Given the description of an element on the screen output the (x, y) to click on. 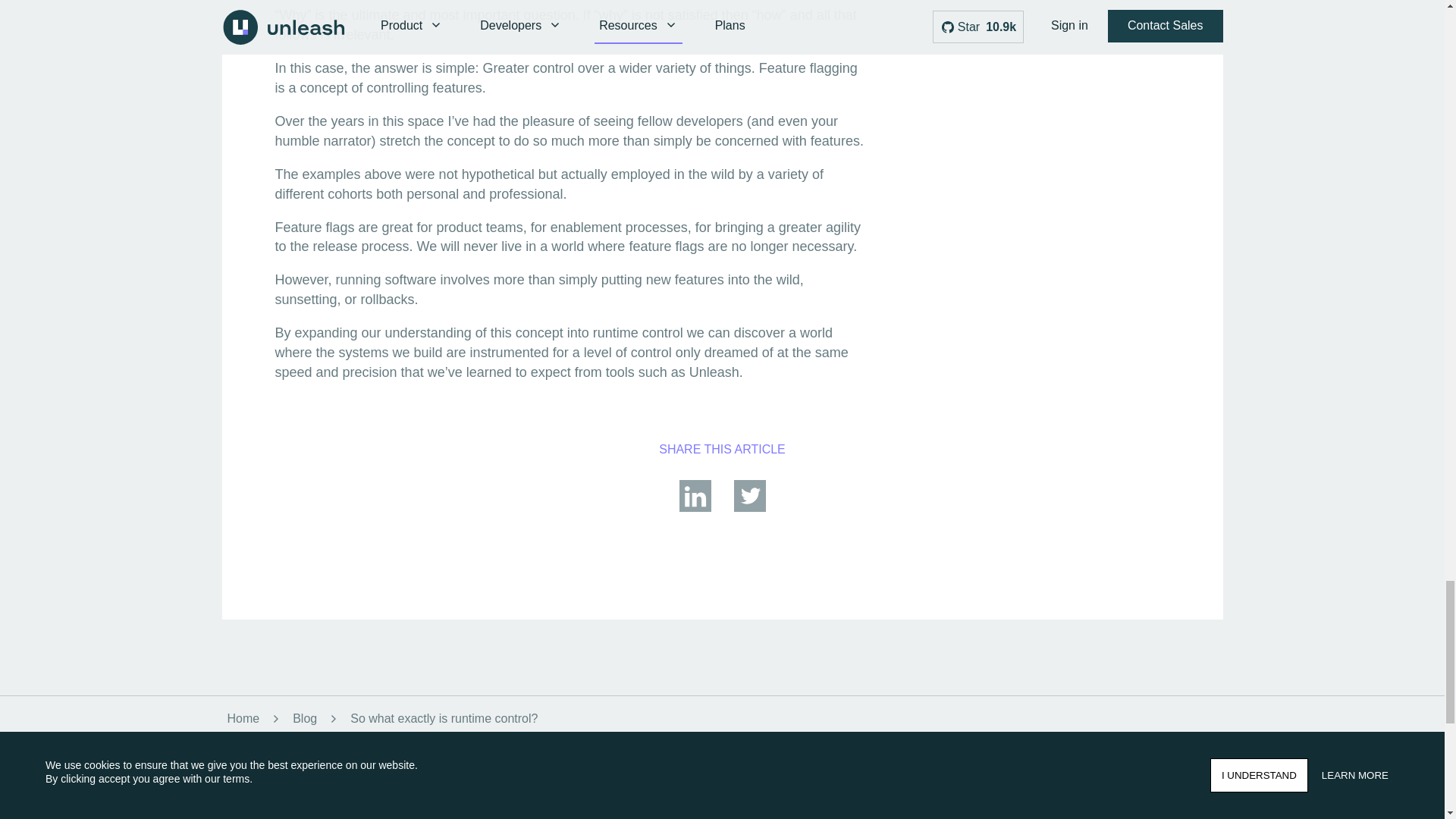
Pricing (578, 789)
Blog (304, 718)
So what exactly is runtime control? (443, 718)
Share this article on LinkedIn (695, 509)
Home (240, 718)
Share this article on Twitter (749, 509)
Enterprise Feature Management Platform (619, 808)
